Given the description of an element on the screen output the (x, y) to click on. 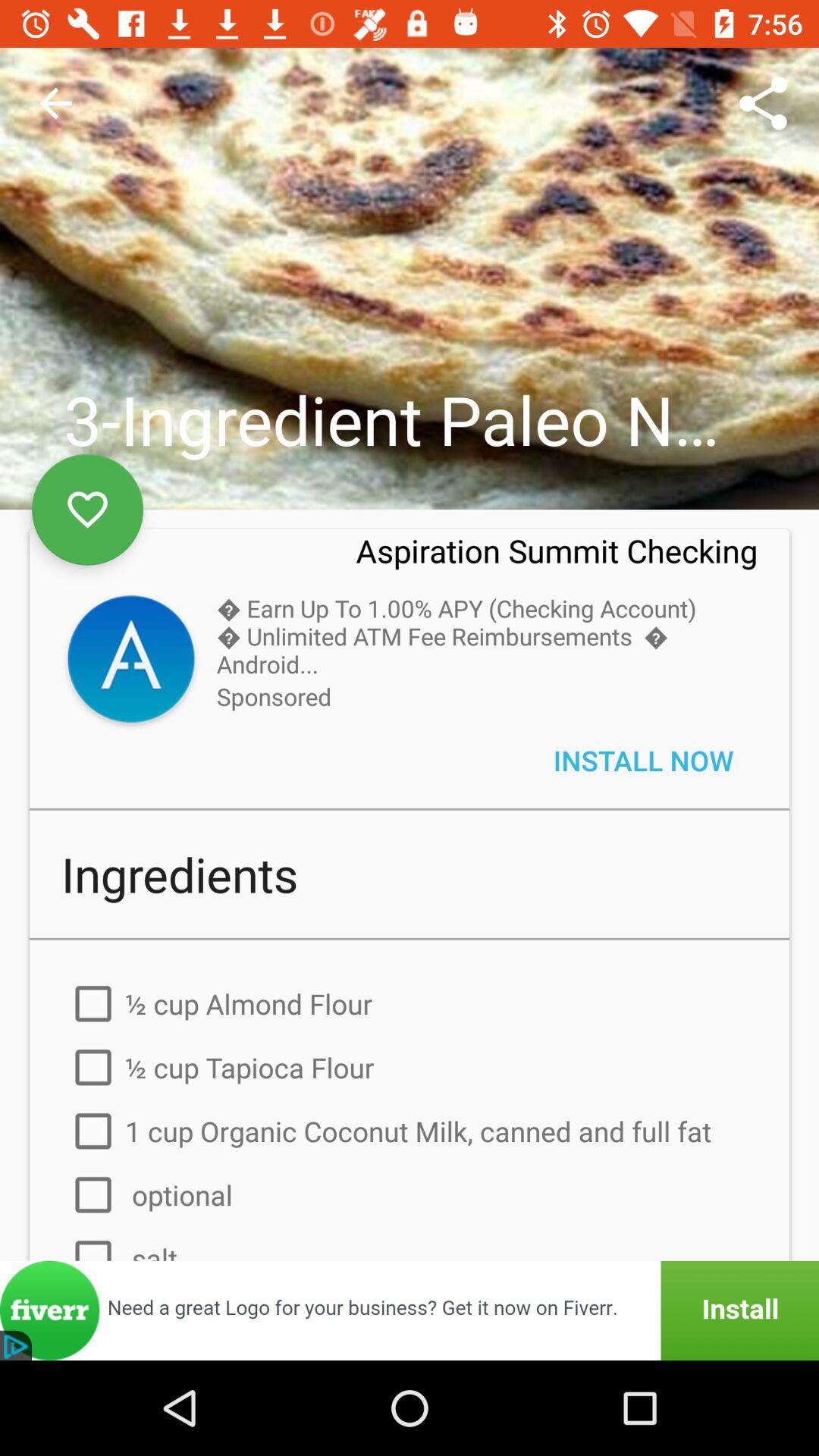
go to fiverr download page (409, 1310)
